Given the description of an element on the screen output the (x, y) to click on. 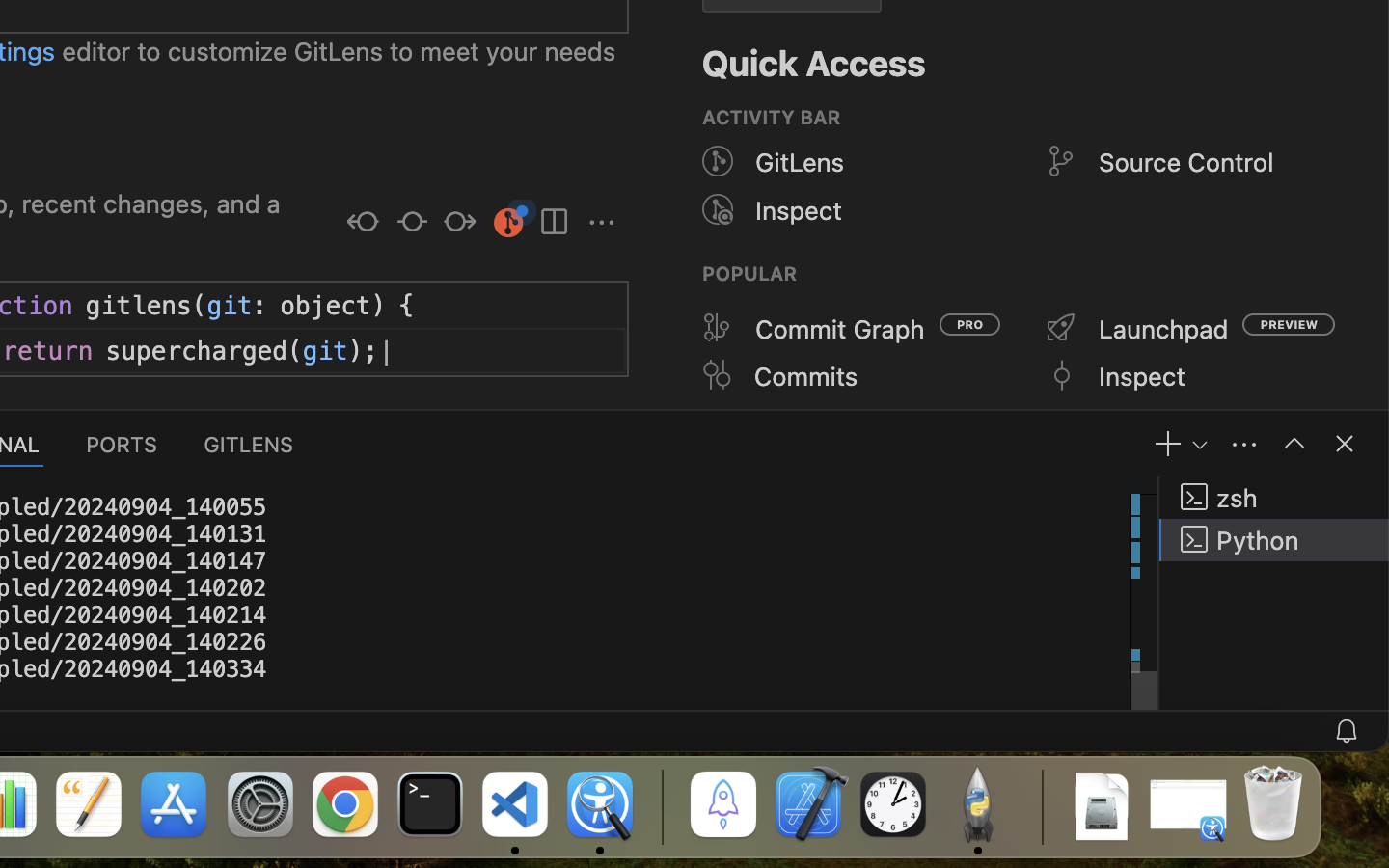
Quick Access Element type: AXStaticText (814, 63)
0.4285714328289032 Element type: AXDockItem (660, 805)
Launchpad Element type: AXStaticText (1163, 328)
 Element type: AXStaticText (459, 223)
 Element type: AXStaticText (553, 223)
